Given the description of an element on the screen output the (x, y) to click on. 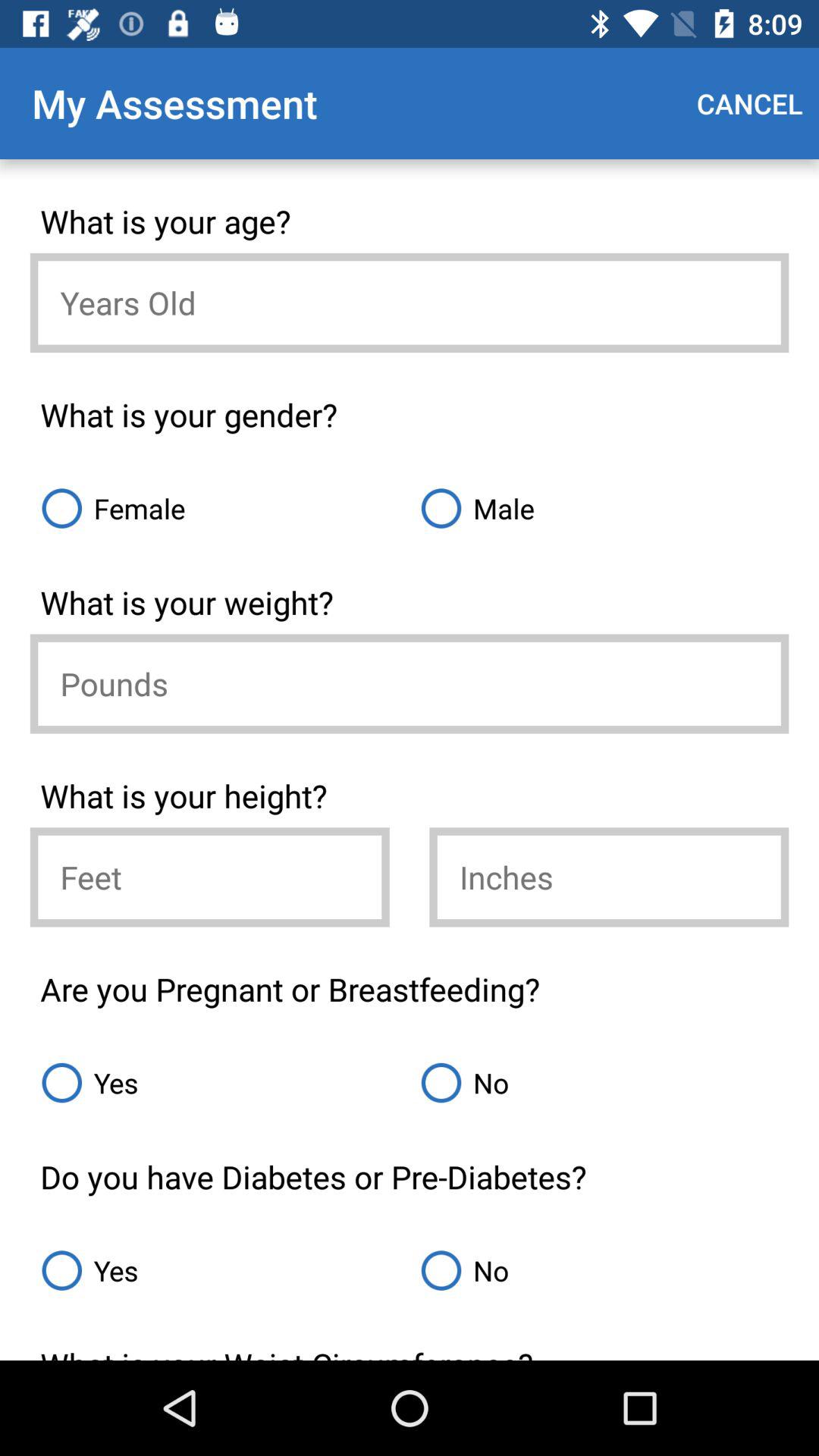
feet in height (209, 877)
